Given the description of an element on the screen output the (x, y) to click on. 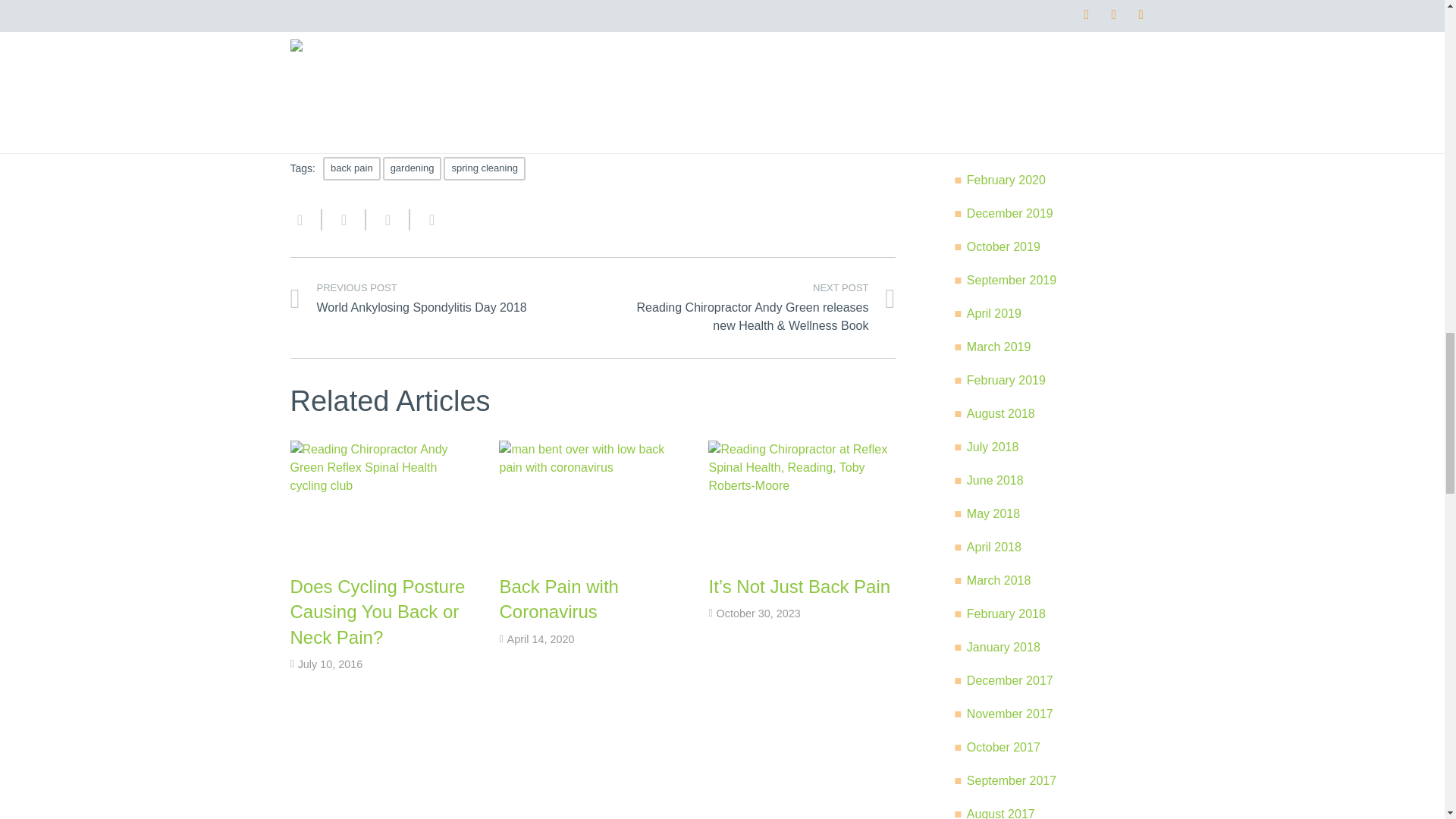
Click to share on Twitter (316, 84)
Share this (305, 219)
Tweet this (343, 219)
Share this (387, 219)
Pin this (425, 219)
Click to share on Facebook (361, 84)
